Given the description of an element on the screen output the (x, y) to click on. 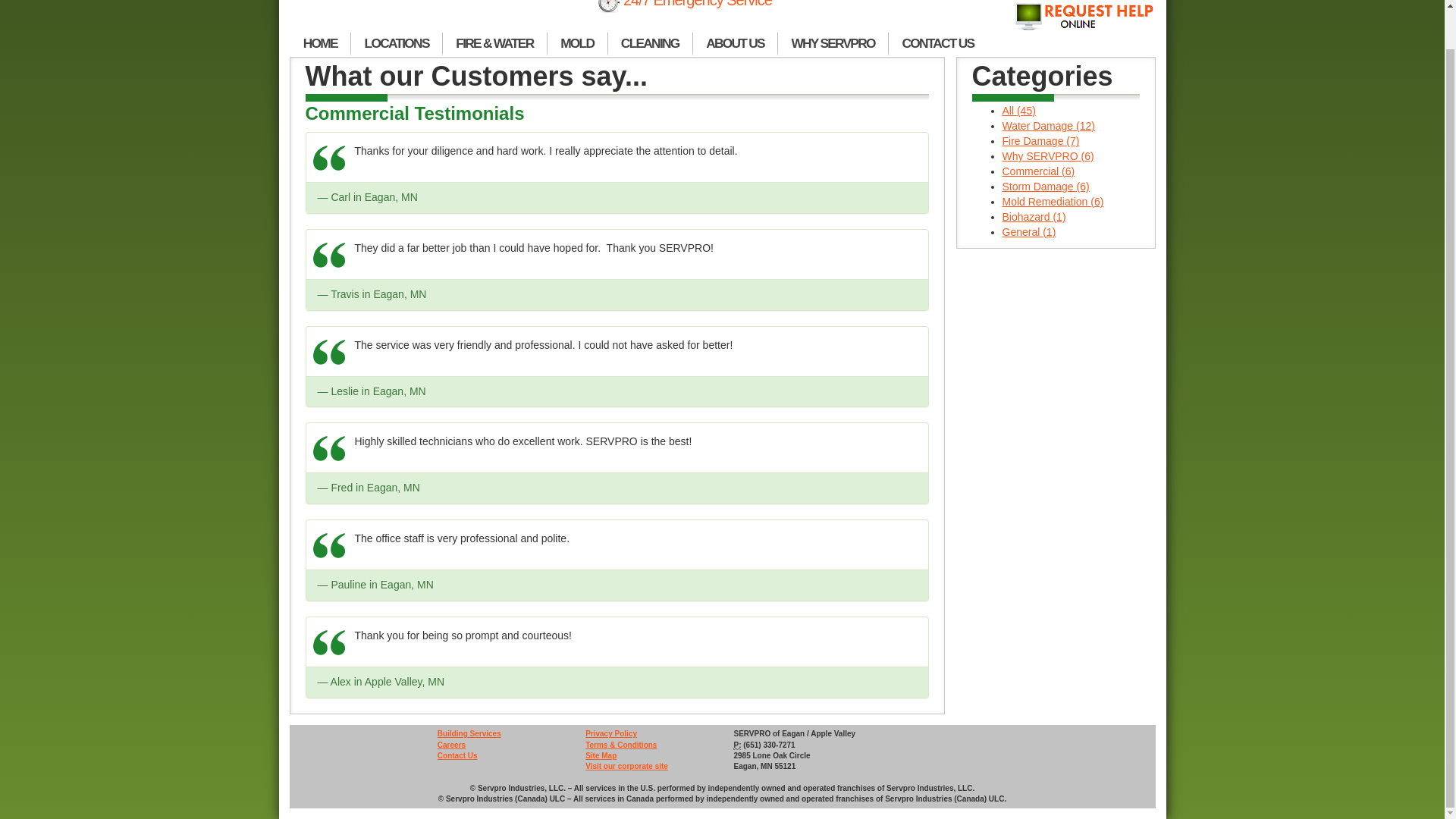
MOLD (577, 44)
LOCATIONS (396, 44)
HOME (319, 44)
CLEANING (650, 44)
ABOUT US (735, 44)
